Given the description of an element on the screen output the (x, y) to click on. 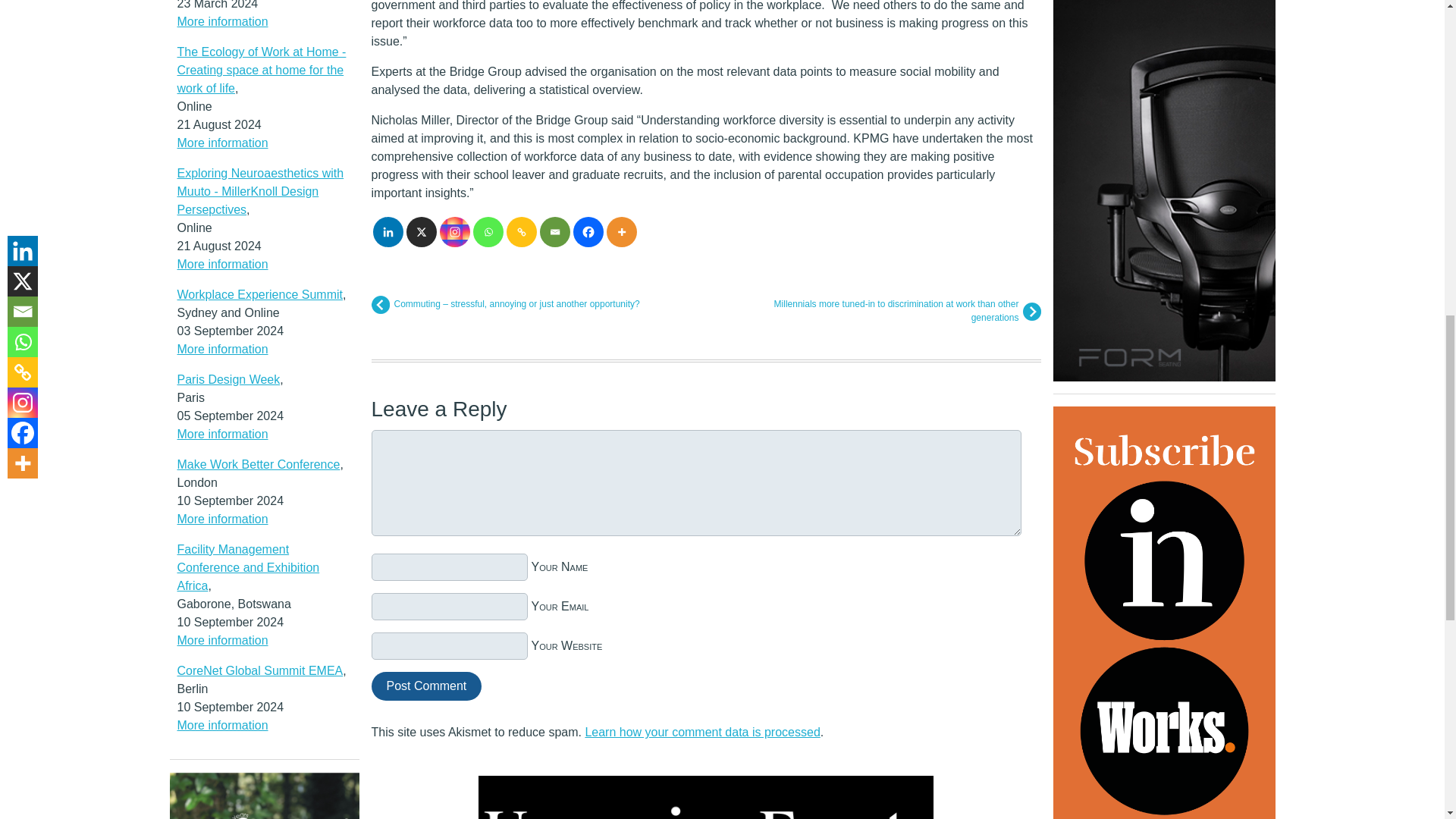
Email (555, 232)
More information (222, 21)
X (421, 232)
More (622, 232)
Facebook (588, 232)
Post Comment (426, 686)
Whatsapp (488, 232)
Linkedin (387, 232)
Copy Link (521, 232)
Instagram (454, 232)
